Given the description of an element on the screen output the (x, y) to click on. 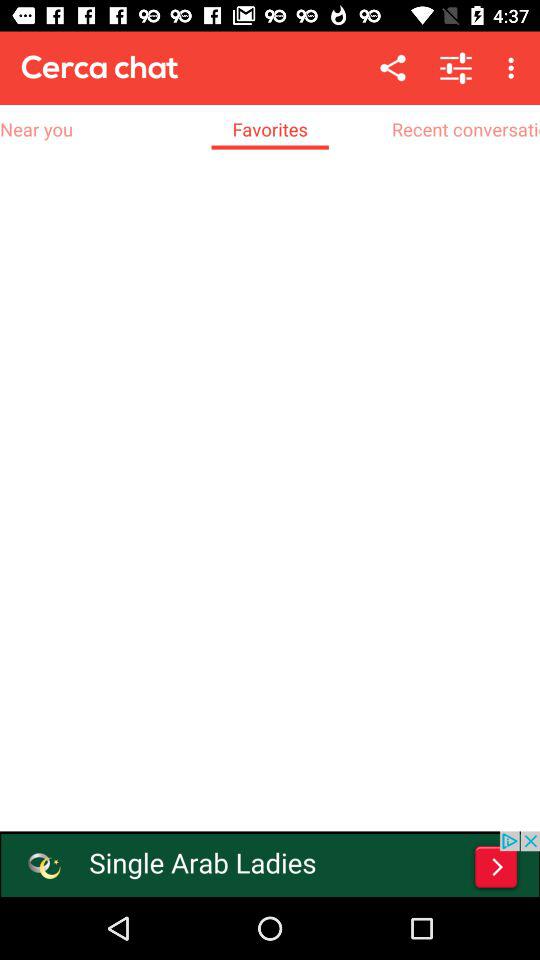
go to advertisement (270, 864)
